Given the description of an element on the screen output the (x, y) to click on. 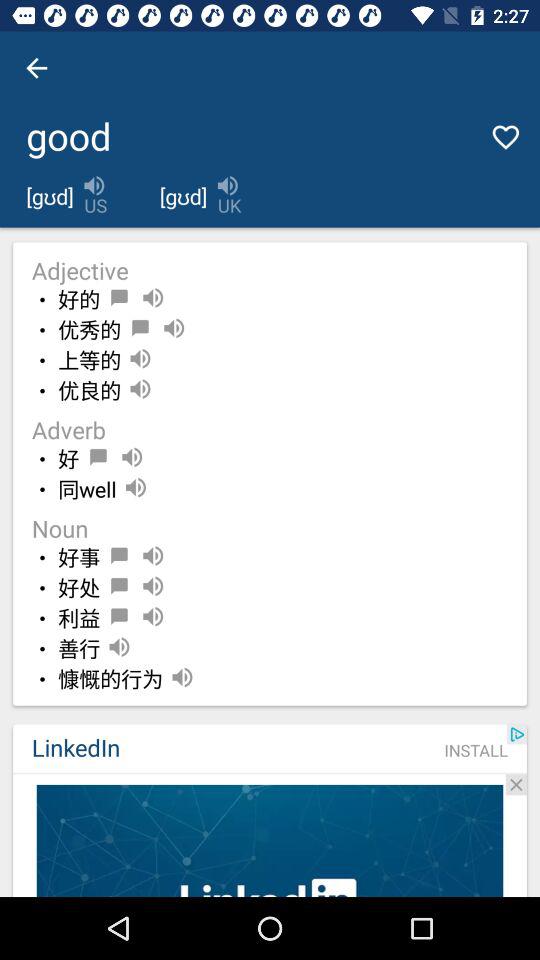
scroll until install item (475, 750)
